Given the description of an element on the screen output the (x, y) to click on. 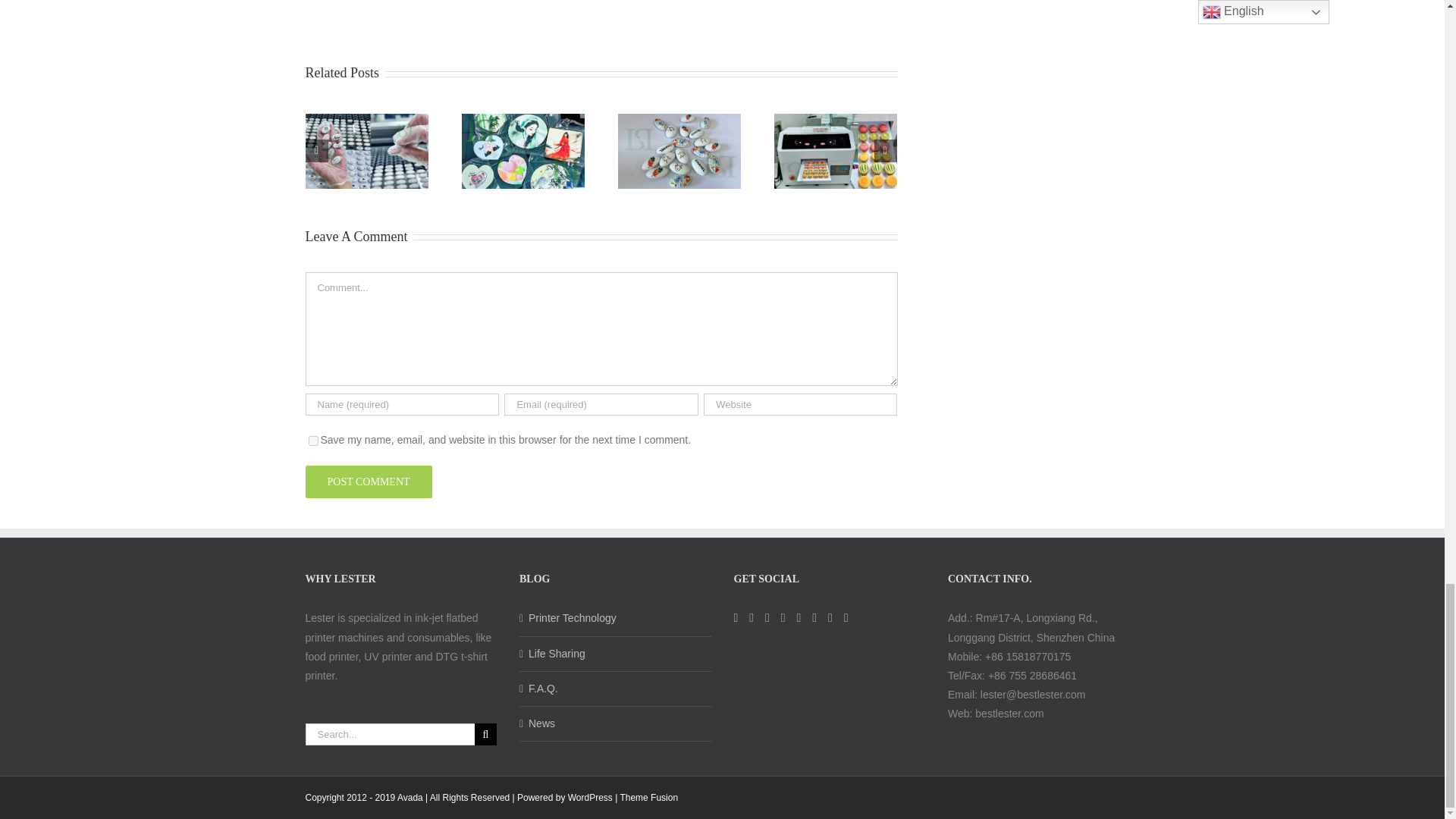
yes (312, 440)
Post Comment (367, 481)
